Given the description of an element on the screen output the (x, y) to click on. 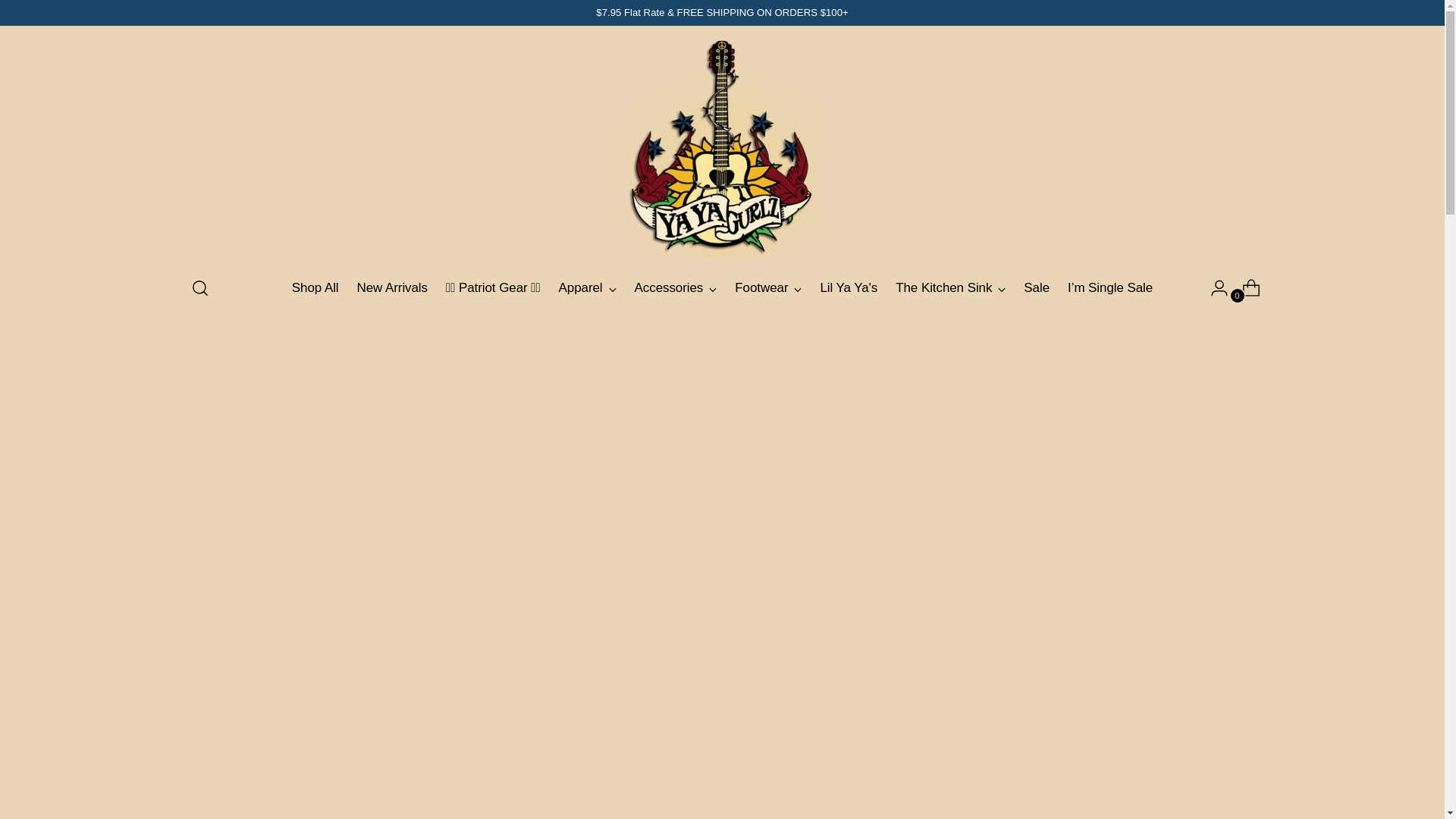
Apparel (587, 287)
Accessories (675, 287)
Footwear (768, 287)
New Arrivals (392, 287)
Lil Ya Ya's (848, 287)
Shop All (315, 287)
